Given the description of an element on the screen output the (x, y) to click on. 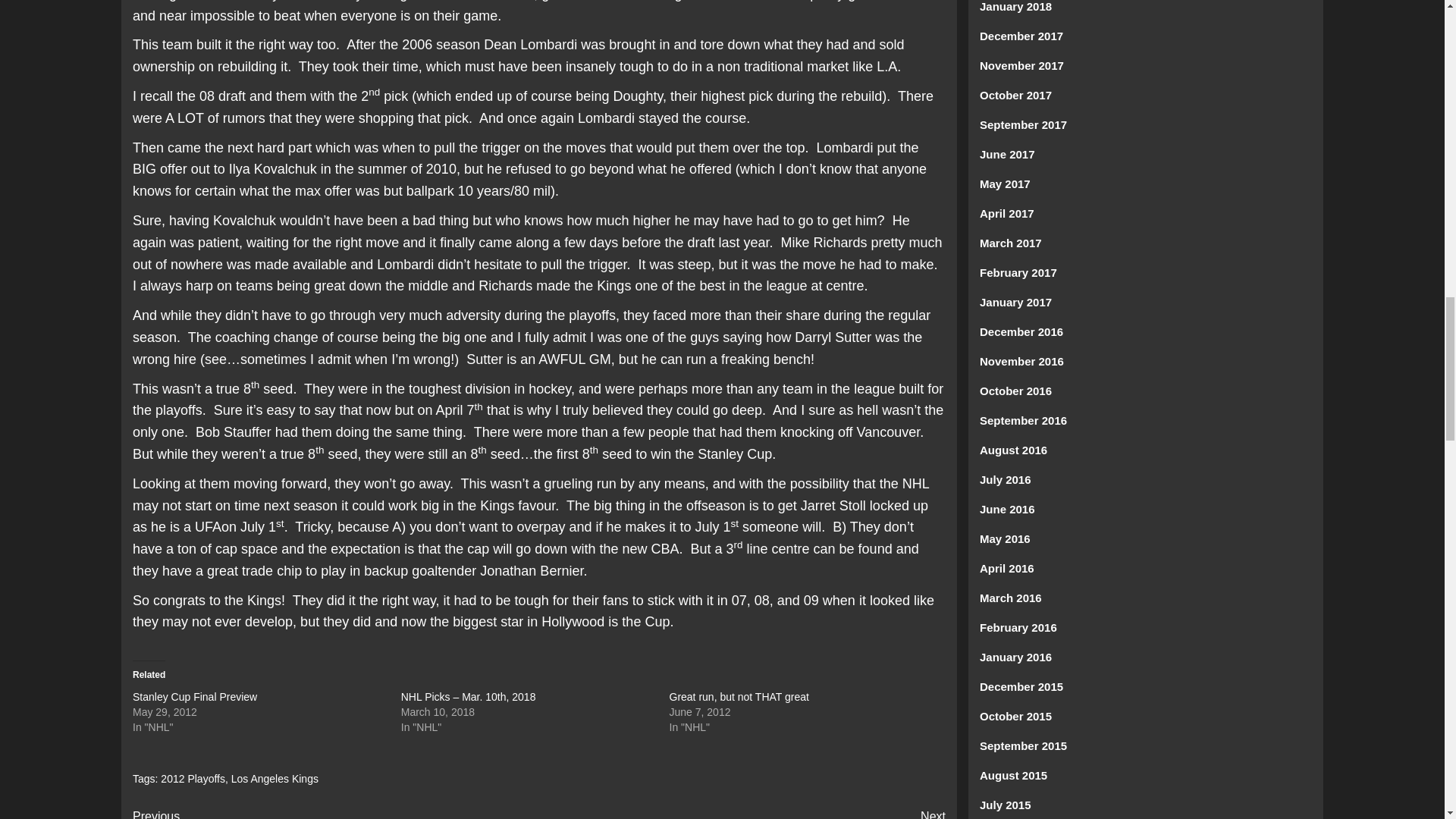
Stanley Cup Final Preview (194, 696)
Stanley Cup Final Preview (194, 696)
2012 Playoffs (192, 778)
Great run, but not THAT great (738, 696)
Great run, but not THAT great (335, 812)
Los Angeles Kings (738, 696)
